Given the description of an element on the screen output the (x, y) to click on. 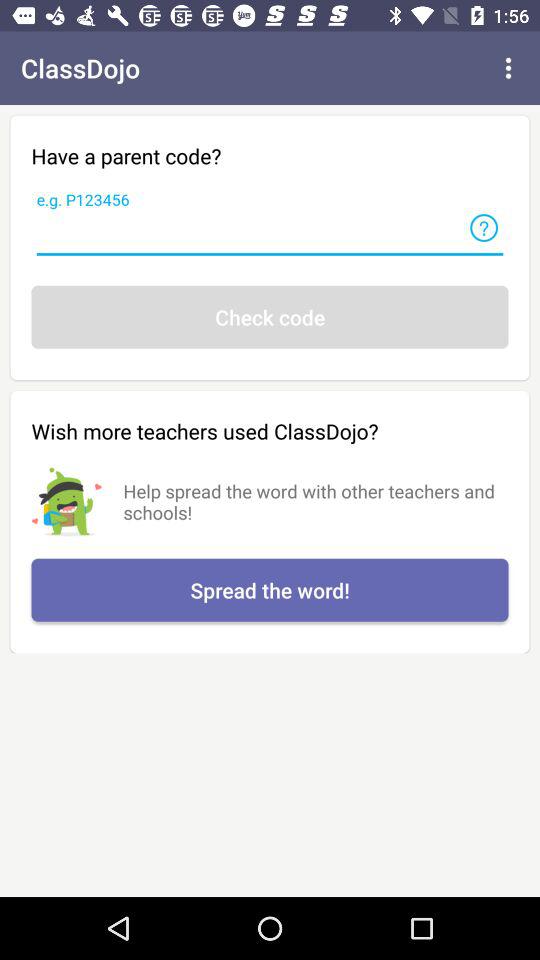
get help or more information (483, 227)
